Given the description of an element on the screen output the (x, y) to click on. 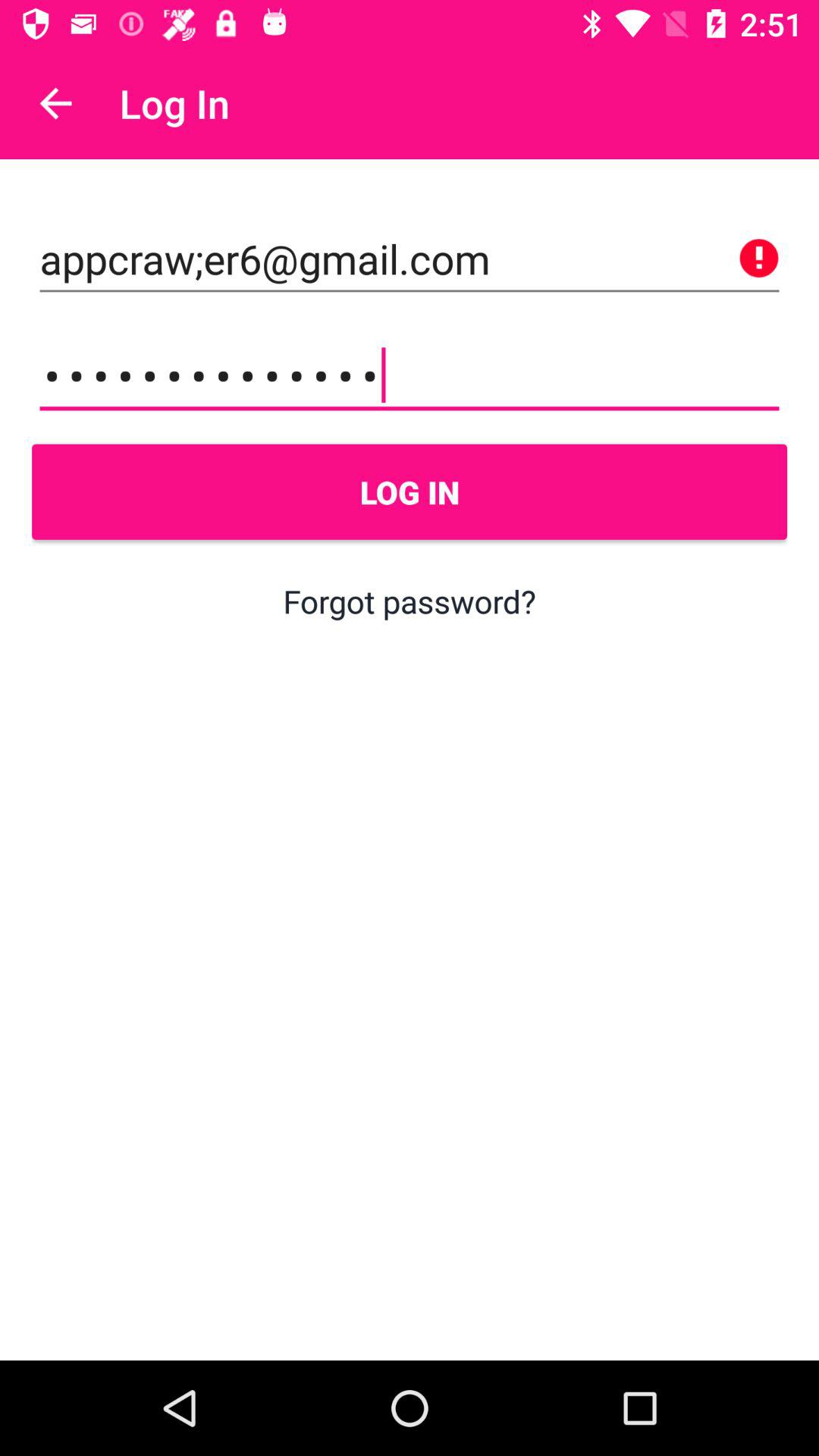
click the item above appcrawler3116 (409, 259)
